Given the description of an element on the screen output the (x, y) to click on. 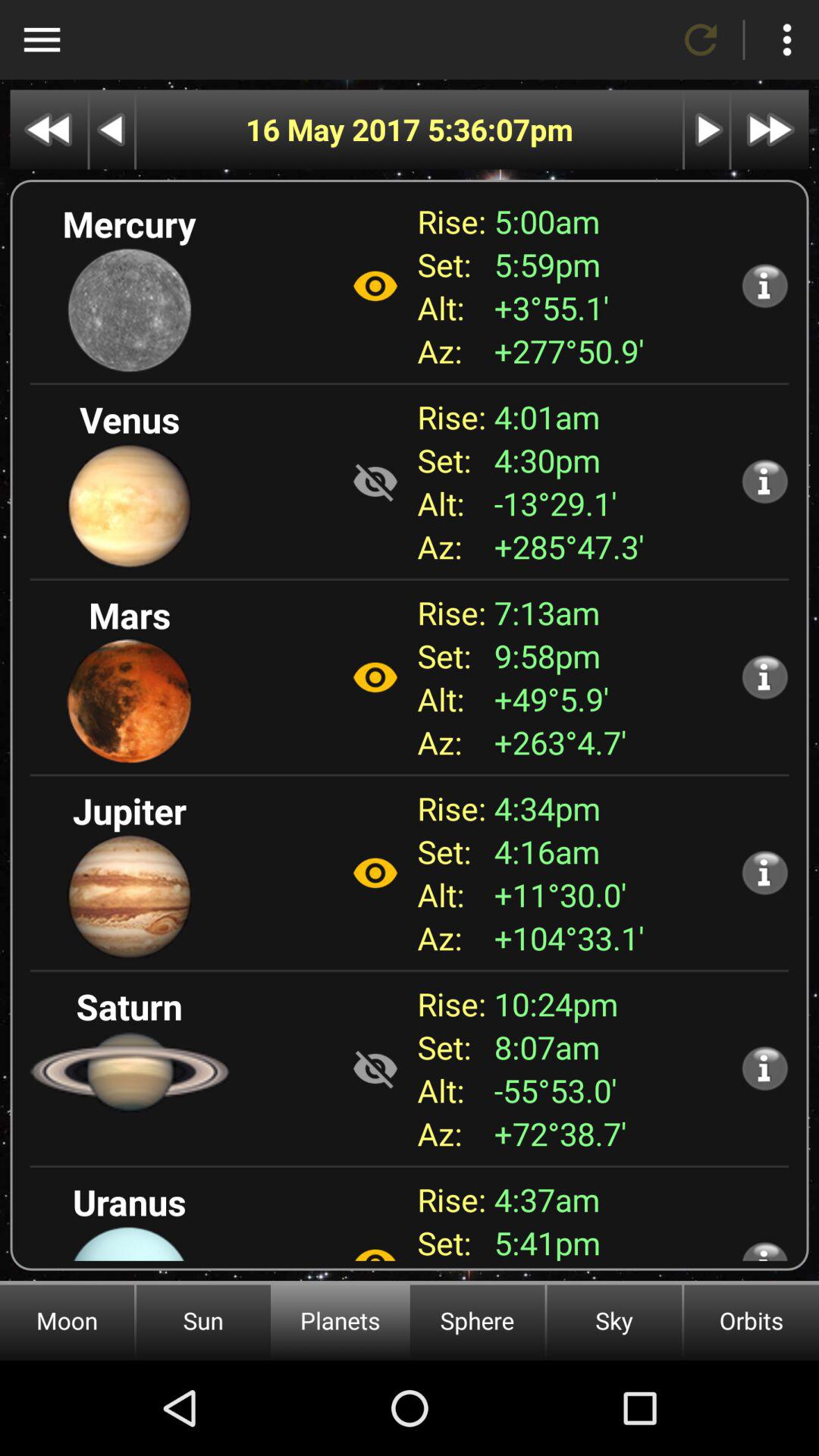
shows detail option (764, 872)
